Given the description of an element on the screen output the (x, y) to click on. 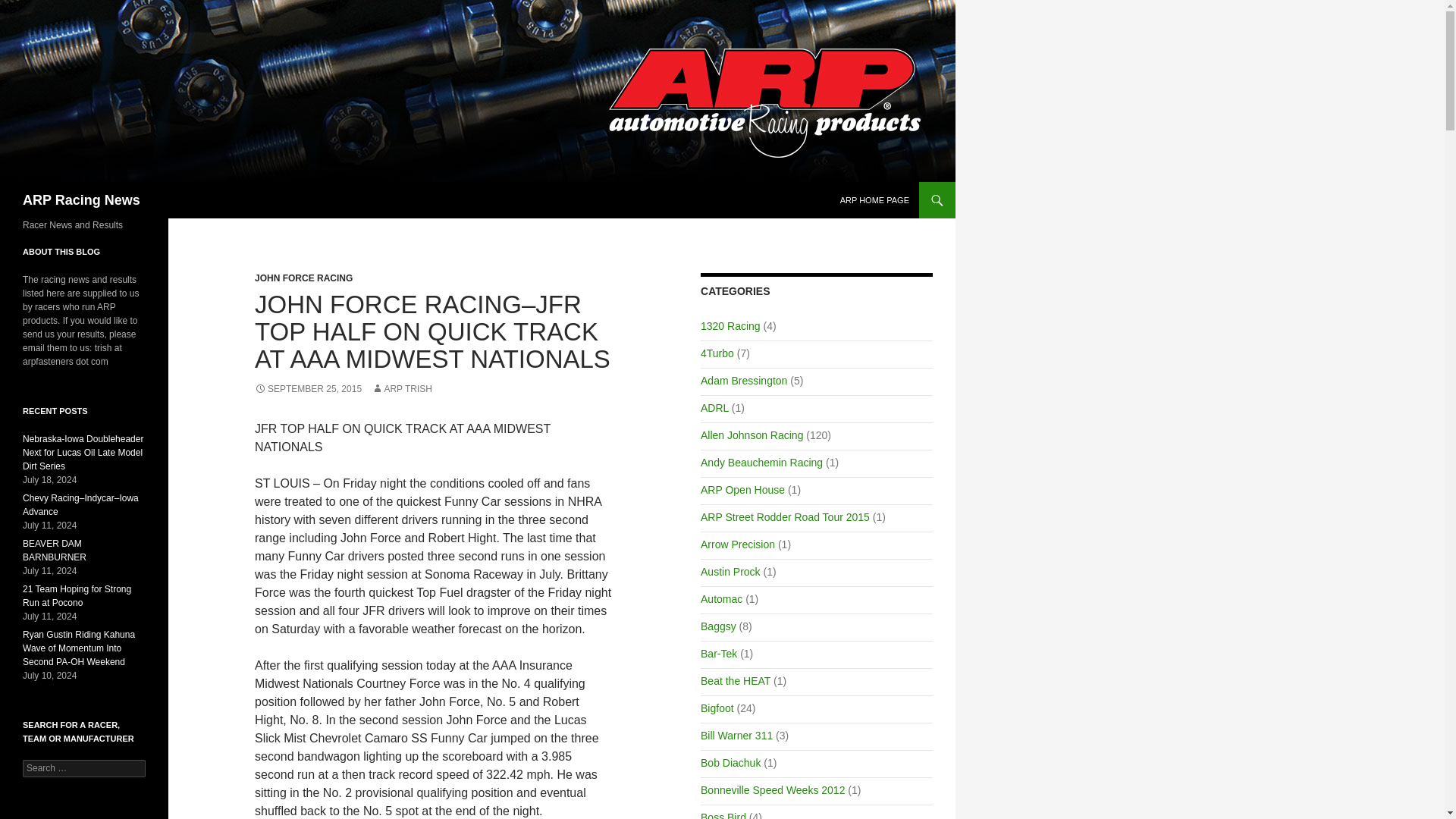
JOHN FORCE RACING (303, 277)
Bob Diachuk (730, 762)
1320 Racing (730, 326)
Arrow Precision (737, 544)
Allen Johnson Racing (751, 435)
ADRL (714, 408)
Baggsy (718, 625)
Bill Warner 311 (736, 735)
Boss Bird (722, 815)
Austin Prock (730, 571)
SEPTEMBER 25, 2015 (307, 388)
Andy Beauchemin Racing (761, 462)
Automac (721, 598)
Bar-Tek (718, 653)
ARP HOME PAGE (874, 199)
